Given the description of an element on the screen output the (x, y) to click on. 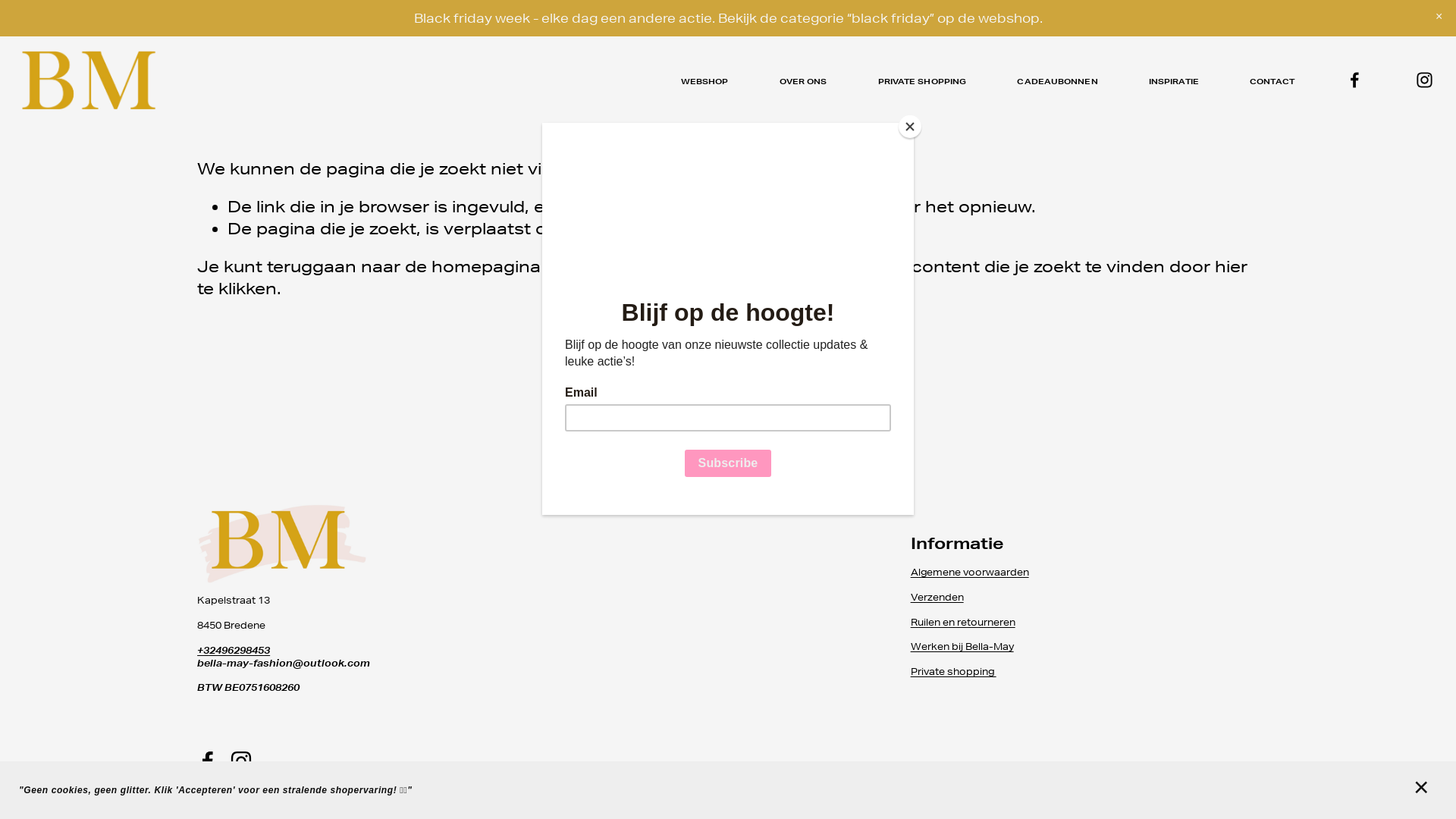
hier te klikken Element type: text (648, 266)
Verzenden Element type: text (936, 597)
Private shopping  Element type: text (953, 671)
Werken bij Bella-May Element type: text (961, 646)
Algemene voorwaarden Element type: text (969, 572)
hier te klikken Element type: text (722, 277)
+32496298453 Element type: text (233, 650)
WEBSHOP Element type: text (704, 82)
PRIVATE SHOPPING Element type: text (922, 82)
INSPIRATIE Element type: text (1173, 82)
Ruilen en retourneren Element type: text (962, 622)
OVER ONS Element type: text (803, 82)
CADEAUBONNEN Element type: text (1056, 82)
CONTACT Element type: text (1271, 82)
